Given the description of an element on the screen output the (x, y) to click on. 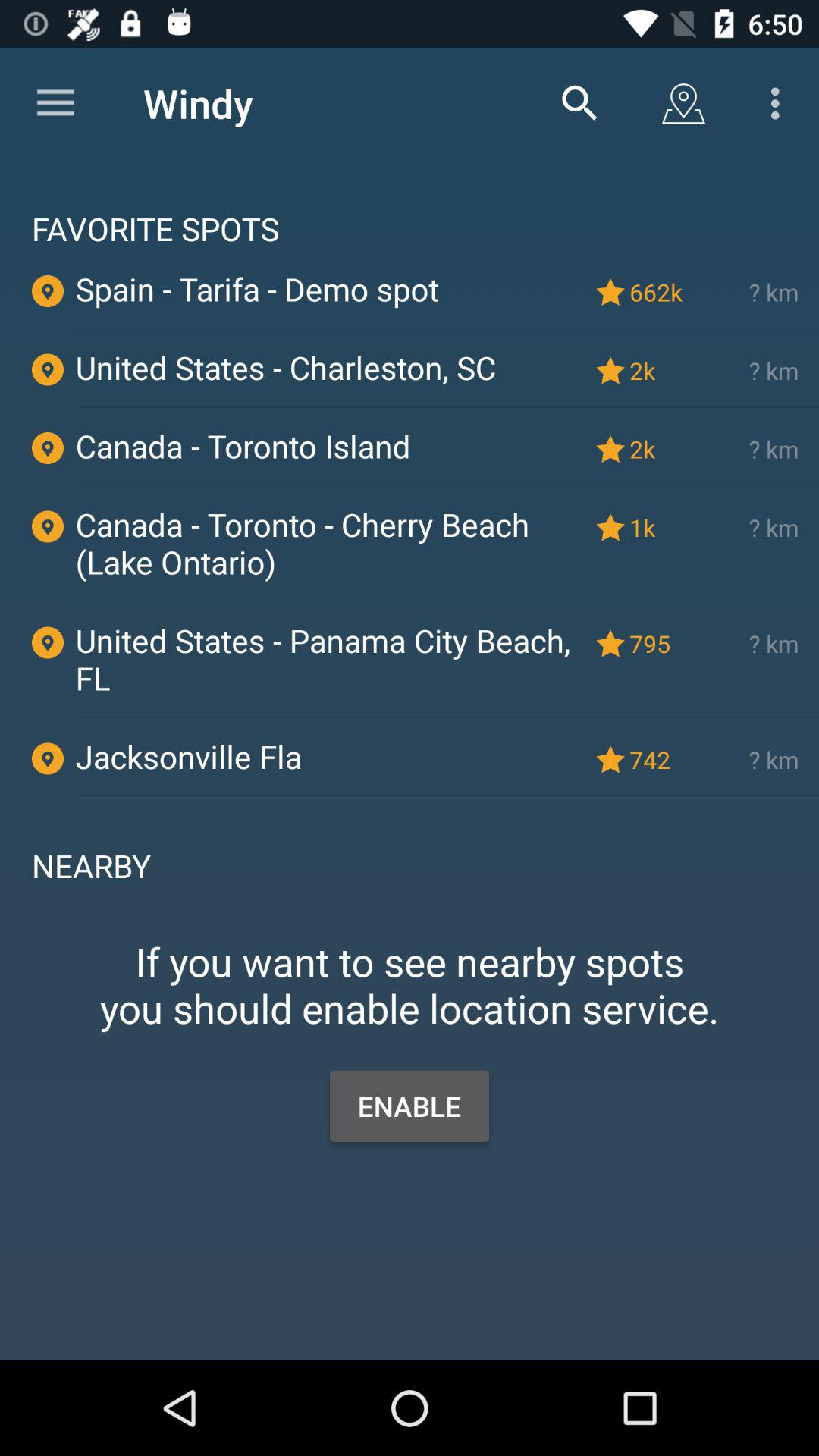
select the icon to the left of the windy item (55, 103)
